Given the description of an element on the screen output the (x, y) to click on. 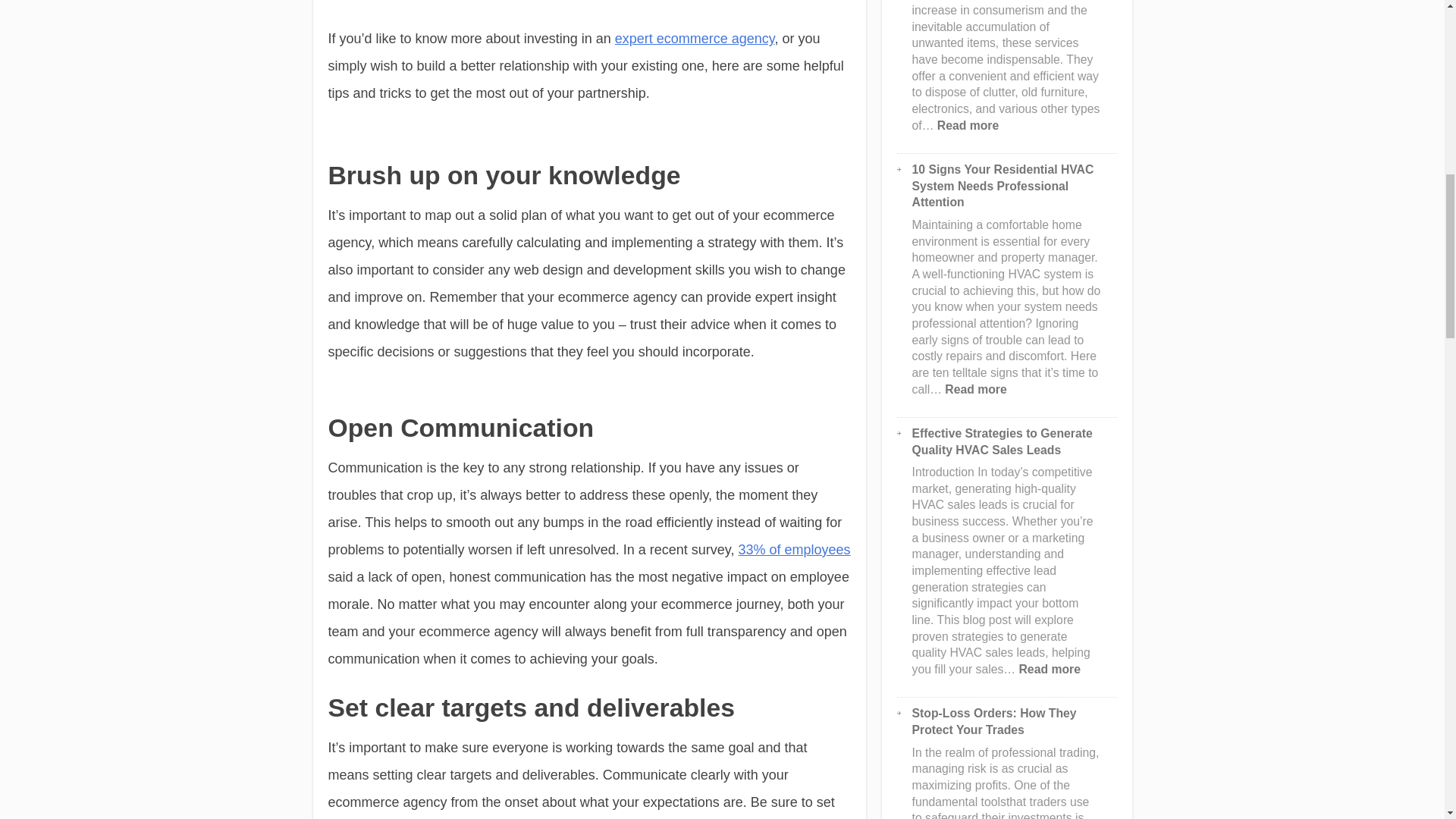
Effective Strategies to Generate Quality HVAC Sales Leads (1002, 441)
Stop-Loss Orders: How They Protect Your Trades (994, 721)
expert ecommerce agency (694, 38)
